Given the description of an element on the screen output the (x, y) to click on. 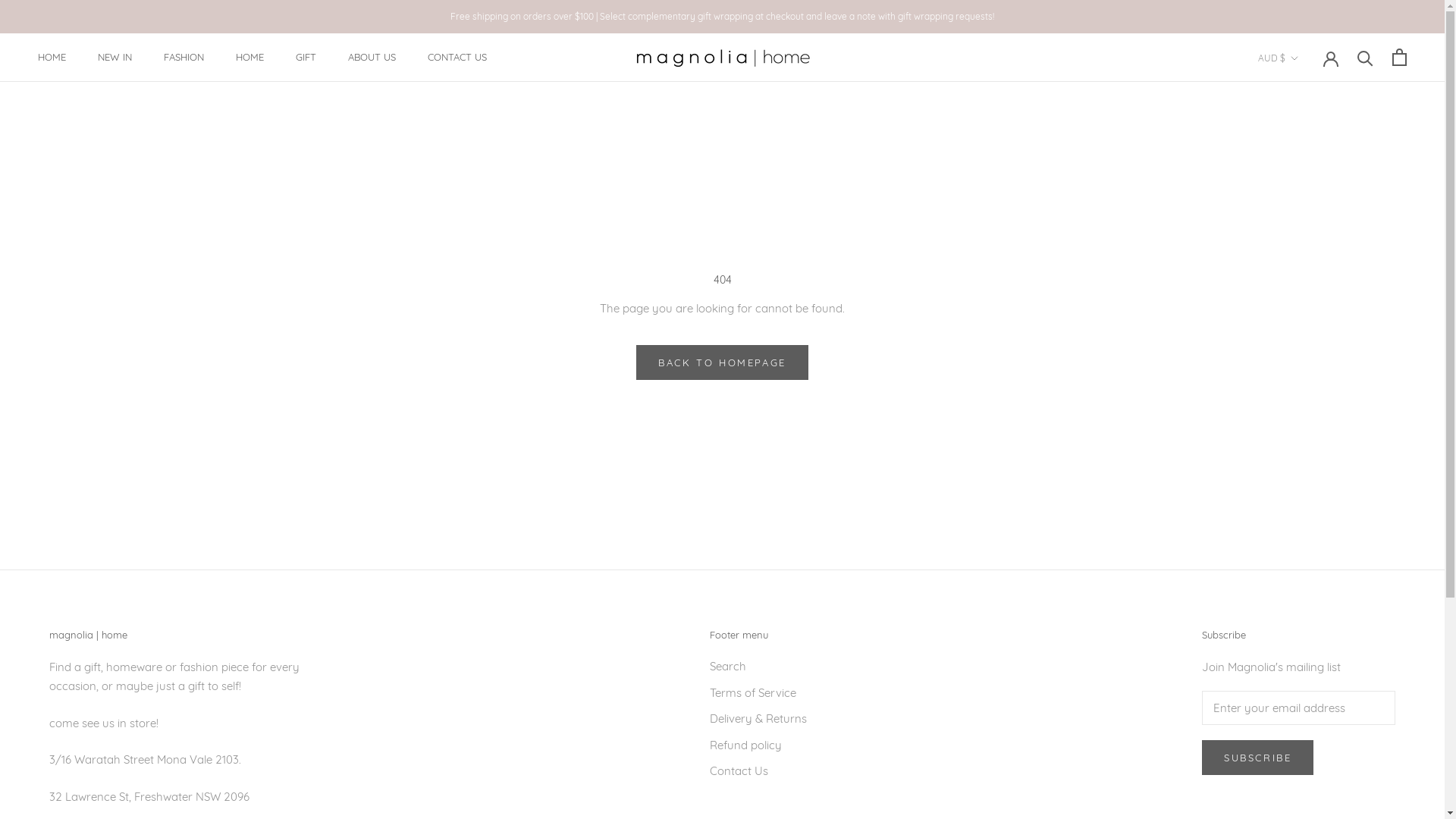
AUD $ Element type: text (1278, 58)
CZK Element type: text (1303, 634)
BND Element type: text (1303, 386)
Contact Us Element type: text (757, 771)
CVE Element type: text (1303, 612)
GIFT Element type: text (305, 56)
ETB Element type: text (1303, 770)
CONTACT US
CONTACT US Element type: text (456, 56)
BSD Element type: text (1303, 431)
ANG Element type: text (1303, 182)
EUR Element type: text (1303, 792)
Refund policy Element type: text (757, 745)
CNY Element type: text (1303, 566)
NEW IN Element type: text (114, 56)
CRC Element type: text (1303, 589)
DZD Element type: text (1303, 725)
FASHION Element type: text (183, 56)
BACK TO HOMEPAGE Element type: text (722, 362)
BAM Element type: text (1303, 273)
BDT Element type: text (1303, 318)
Delivery & Returns Element type: text (757, 719)
CHF Element type: text (1303, 544)
ALL Element type: text (1303, 137)
AFN Element type: text (1303, 114)
SUBSCRIBE Element type: text (1257, 757)
AMD Element type: text (1303, 160)
BGN Element type: text (1303, 340)
AZN Element type: text (1303, 250)
DJF Element type: text (1303, 657)
AWG Element type: text (1303, 227)
DOP Element type: text (1303, 702)
Search Element type: text (757, 666)
BZD Element type: text (1303, 476)
HOME
HOME Element type: text (51, 56)
BWP Element type: text (1303, 453)
DKK Element type: text (1303, 679)
BIF Element type: text (1303, 363)
CAD Element type: text (1303, 499)
Terms of Service Element type: text (757, 693)
CDF Element type: text (1303, 521)
AUD Element type: text (1303, 205)
BOB Element type: text (1303, 408)
HOME Element type: text (249, 56)
EGP Element type: text (1303, 747)
AED Element type: text (1303, 92)
BBD Element type: text (1303, 295)
ABOUT US
ABOUT US Element type: text (371, 56)
